Given the description of an element on the screen output the (x, y) to click on. 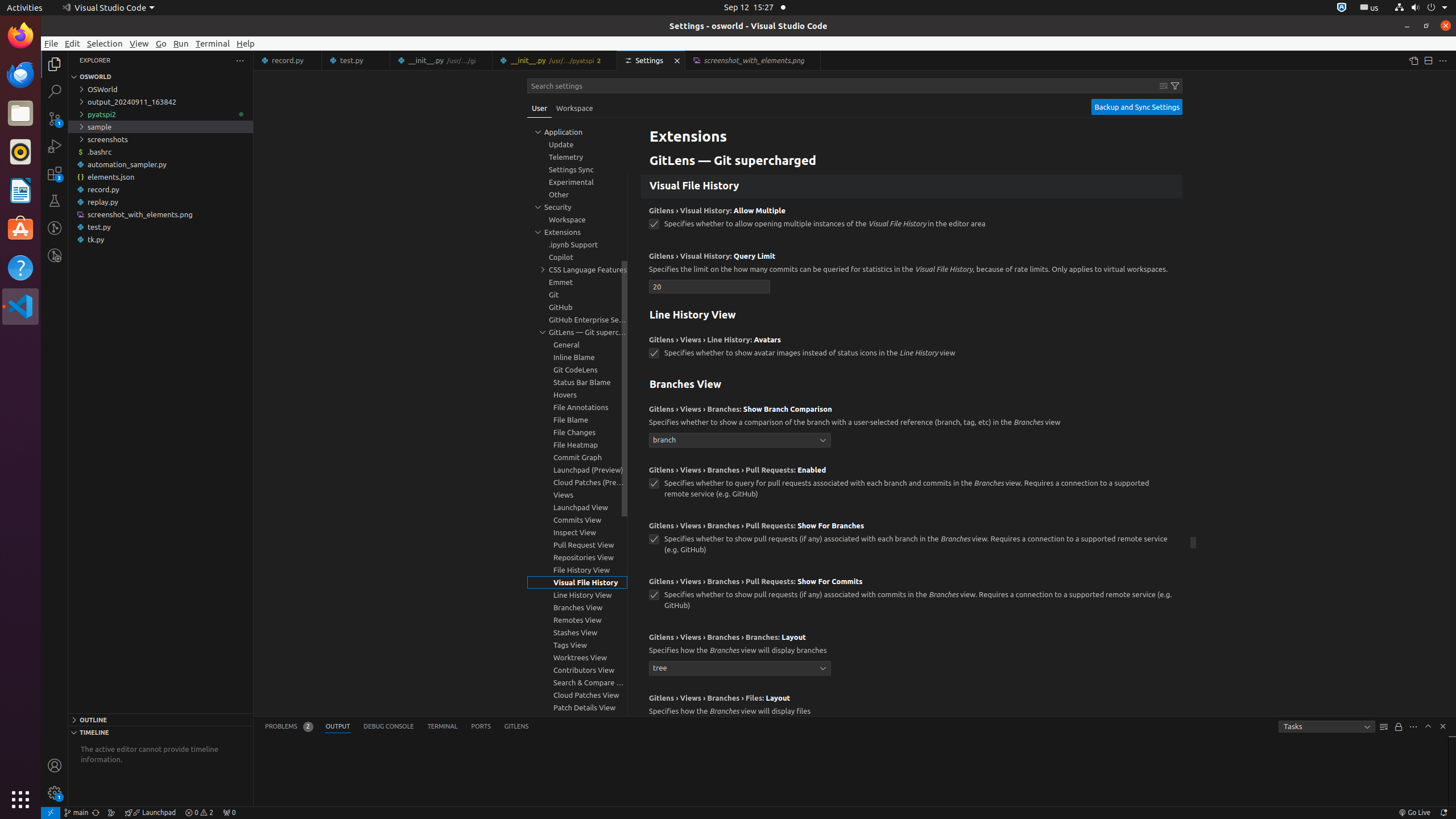
Clear Settings Search Input Element type: push-button (1163, 85)
Telemetry, group Element type: tree-item (577, 156)
More Actions... Element type: push-button (1442, 60)
Views and More Actions... Element type: push-button (1413, 726)
Cloud Patches View, group Element type: tree-item (577, 694)
